Given the description of an element on the screen output the (x, y) to click on. 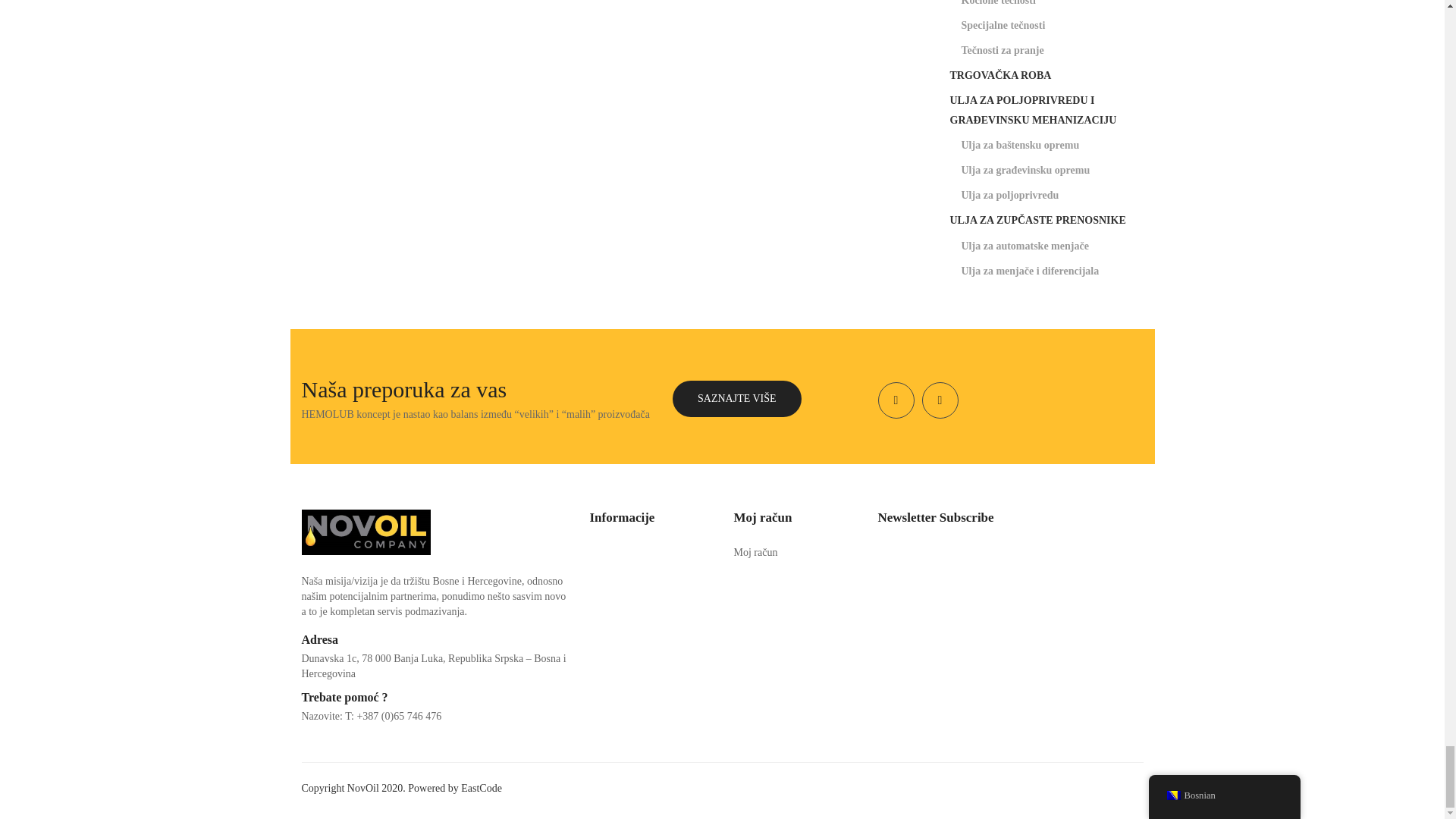
NovOil (365, 531)
Instagram (939, 400)
Facebook (895, 400)
